Given the description of an element on the screen output the (x, y) to click on. 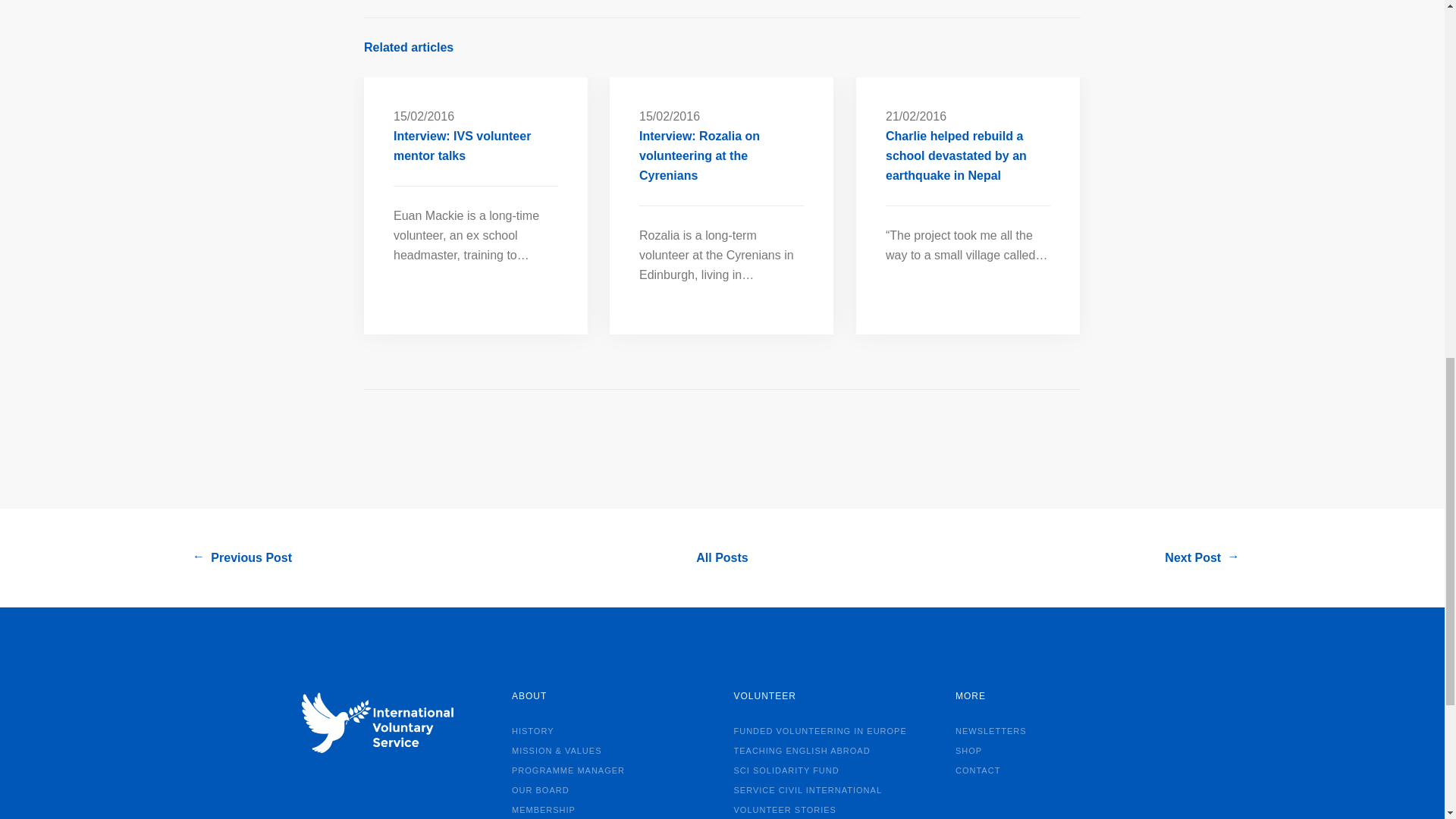
HISTORY (538, 730)
All Posts (721, 557)
